Given the description of an element on the screen output the (x, y) to click on. 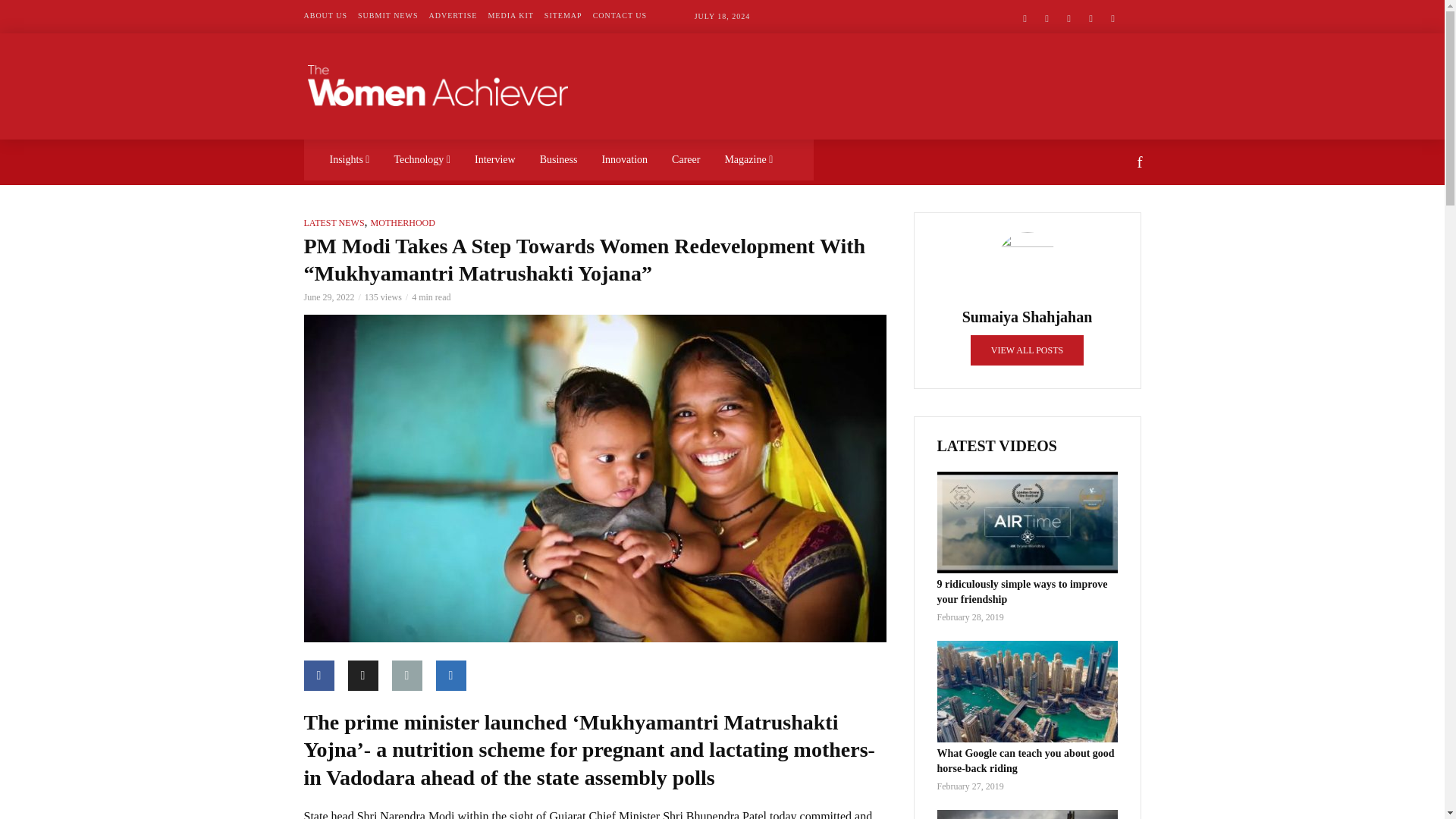
What Google can teach you about good horse-back riding (1027, 691)
Magazine (748, 159)
MEDIA KIT (509, 15)
Technology (421, 159)
Innovation (624, 159)
CONTACT US (619, 15)
Interview (494, 159)
Business (558, 159)
6 effective ways to get more out of extreme sports (1027, 814)
SITEMAP (563, 15)
ABOUT US (324, 15)
Career (685, 159)
9 ridiculously simple ways to improve your friendship (1027, 522)
Insights (349, 159)
ADVERTISE (452, 15)
